Given the description of an element on the screen output the (x, y) to click on. 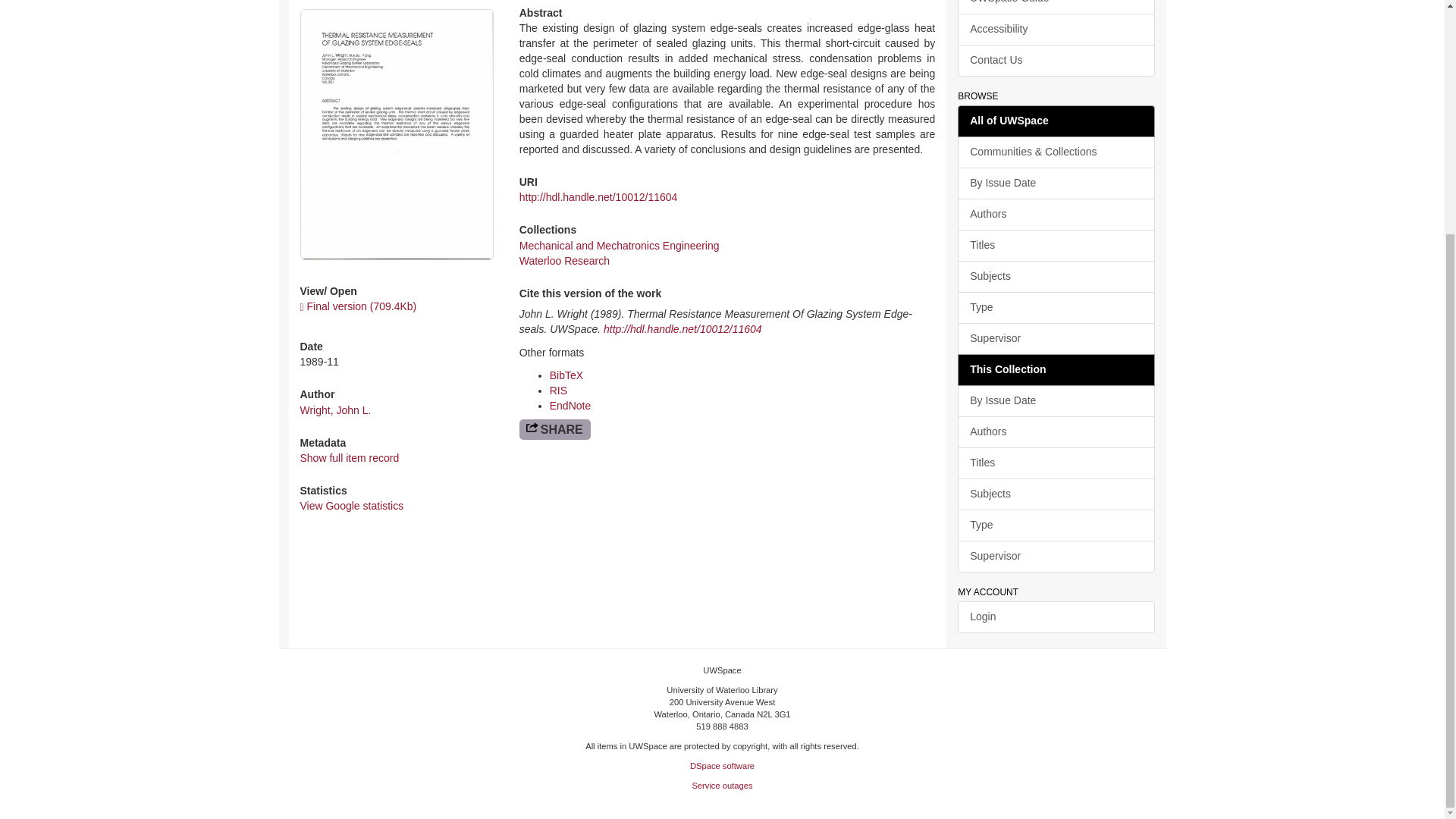
Waterloo Research (564, 260)
Mechanical and Mechatronics Engineering (619, 245)
RIS (558, 390)
Contact Us (1056, 60)
UWSpace Guide (1056, 7)
Show full item record (348, 458)
EndNote (570, 405)
Accessibility (1056, 29)
BibTeX (566, 375)
View Google statistics (351, 505)
Wright, John L. (335, 410)
